Given the description of an element on the screen output the (x, y) to click on. 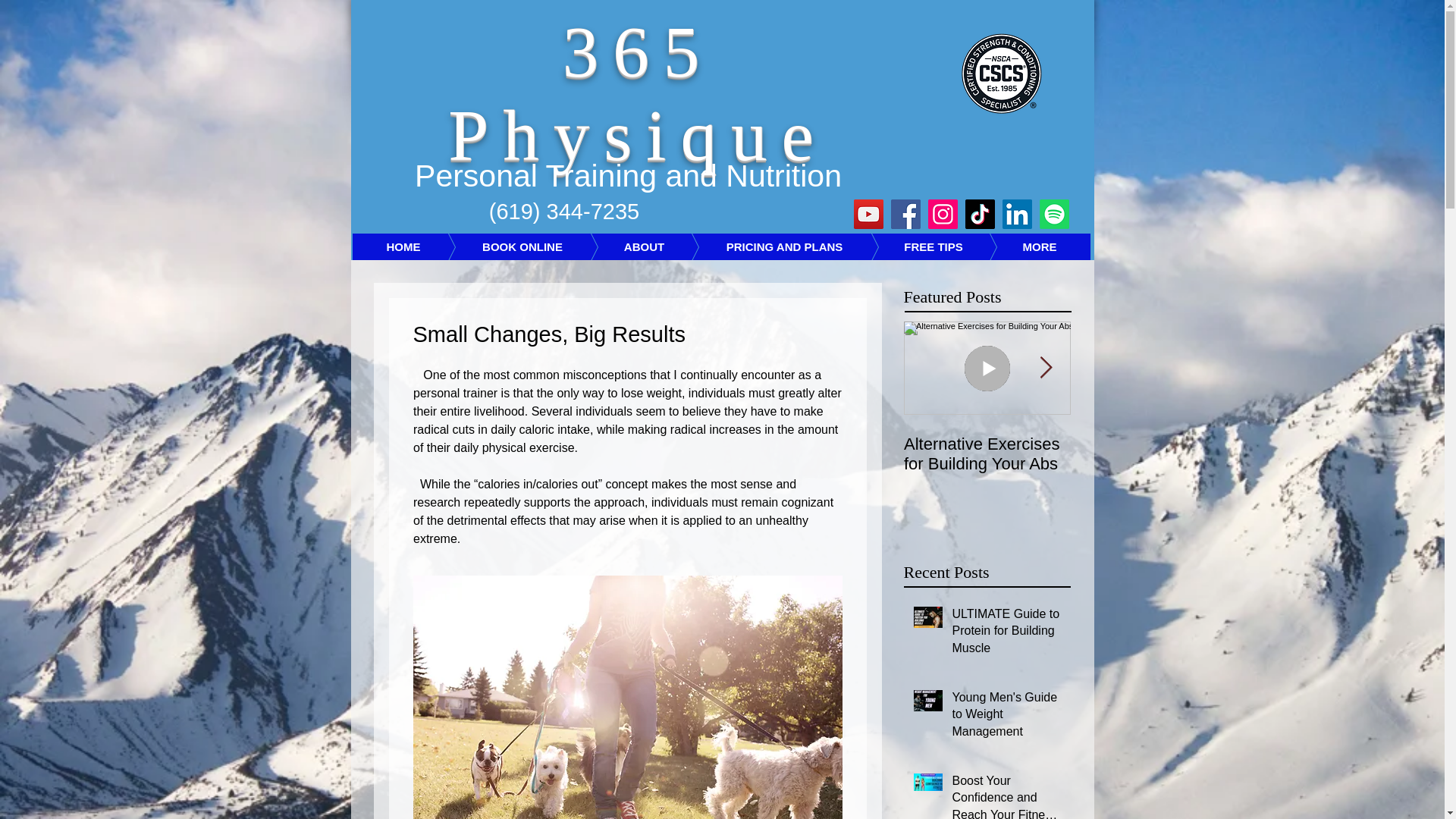
BOOK ONLINE (498, 246)
Young Men's Guide to Weight Management (1006, 717)
Boost Your Confidence and Reach Your Fitness Goals (1006, 796)
365 Physique (637, 94)
ULTIMATE Guide to Protein for Building Muscle (1006, 634)
Alternative Exercises for Building Your Abs (987, 454)
HOME (403, 246)
Overcoming Anxiety to Hit the Gym: 3 Tips to Get You Started (1321, 463)
